Given the description of an element on the screen output the (x, y) to click on. 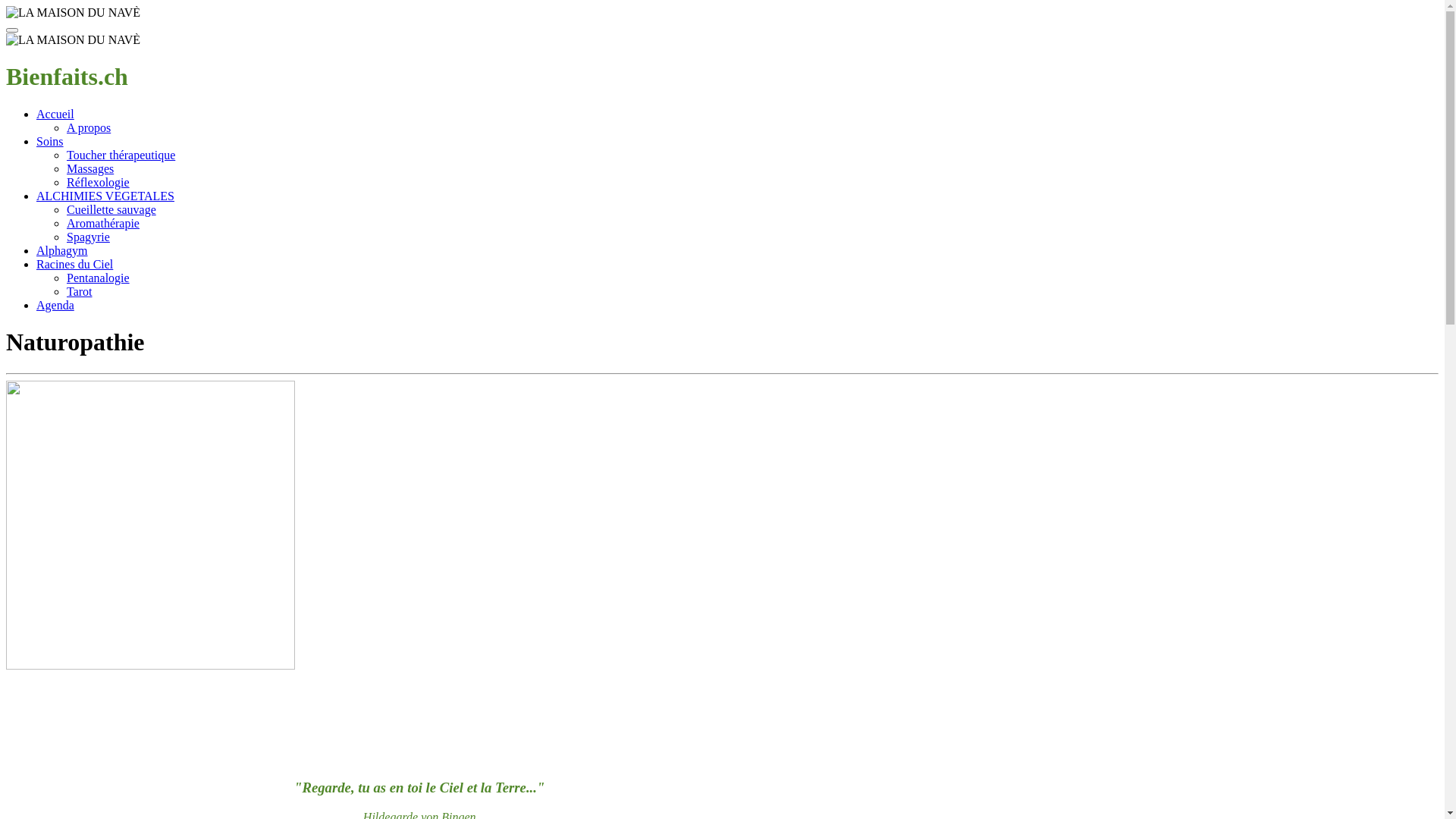
Cueillette sauvage Element type: text (111, 209)
Accueil Element type: text (55, 113)
Agenda Element type: text (55, 304)
Racines du Ciel Element type: text (74, 263)
A propos Element type: text (88, 127)
Massages Element type: text (89, 168)
Alphagym Element type: text (61, 250)
Soins Element type: text (49, 140)
Tarot Element type: text (79, 291)
Pentanalogie Element type: text (97, 277)
Spagyrie Element type: text (87, 236)
ALCHIMIES VEGETALES Element type: text (105, 195)
